Given the description of an element on the screen output the (x, y) to click on. 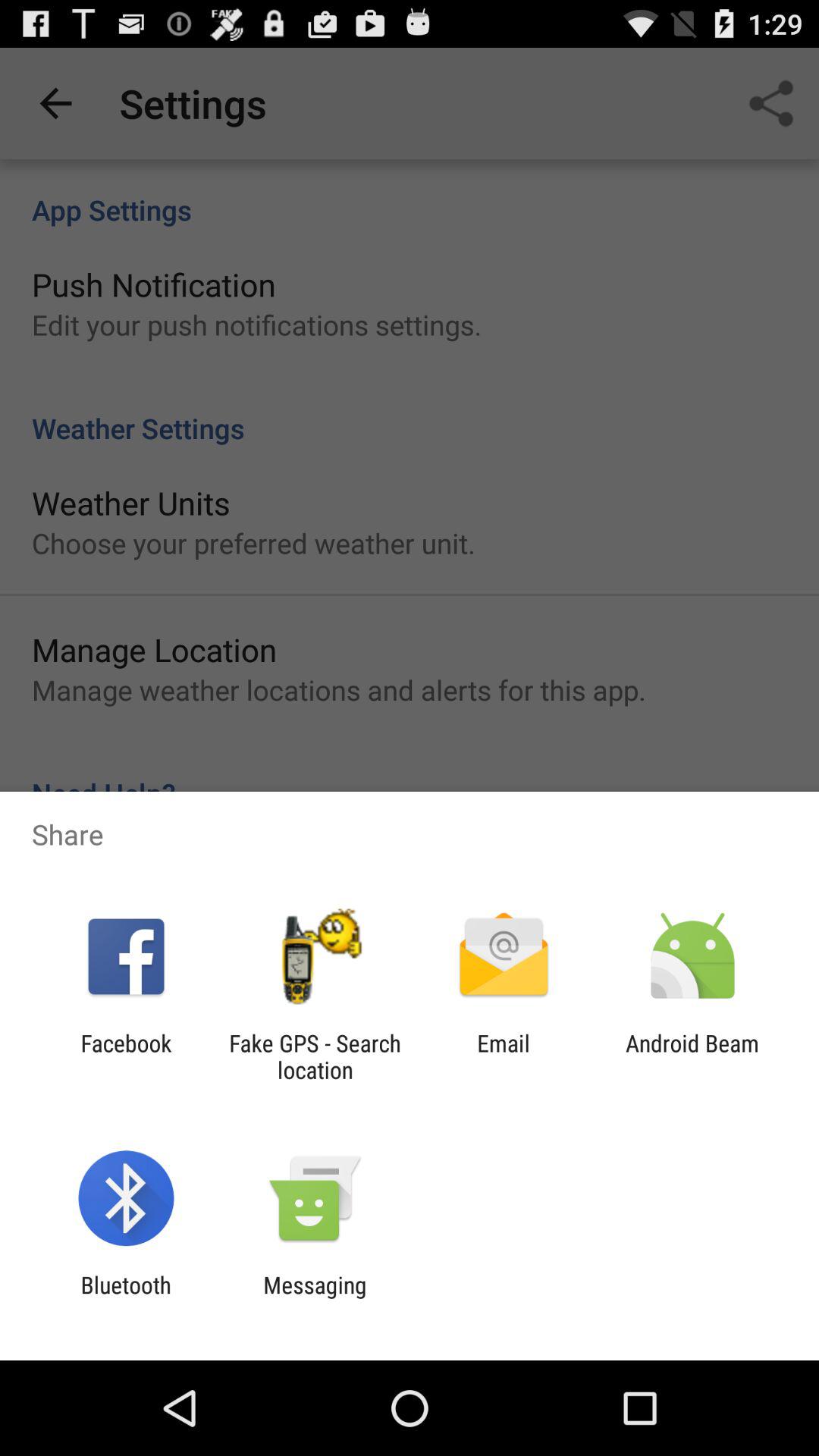
open the item next to the messaging item (125, 1298)
